Given the description of an element on the screen output the (x, y) to click on. 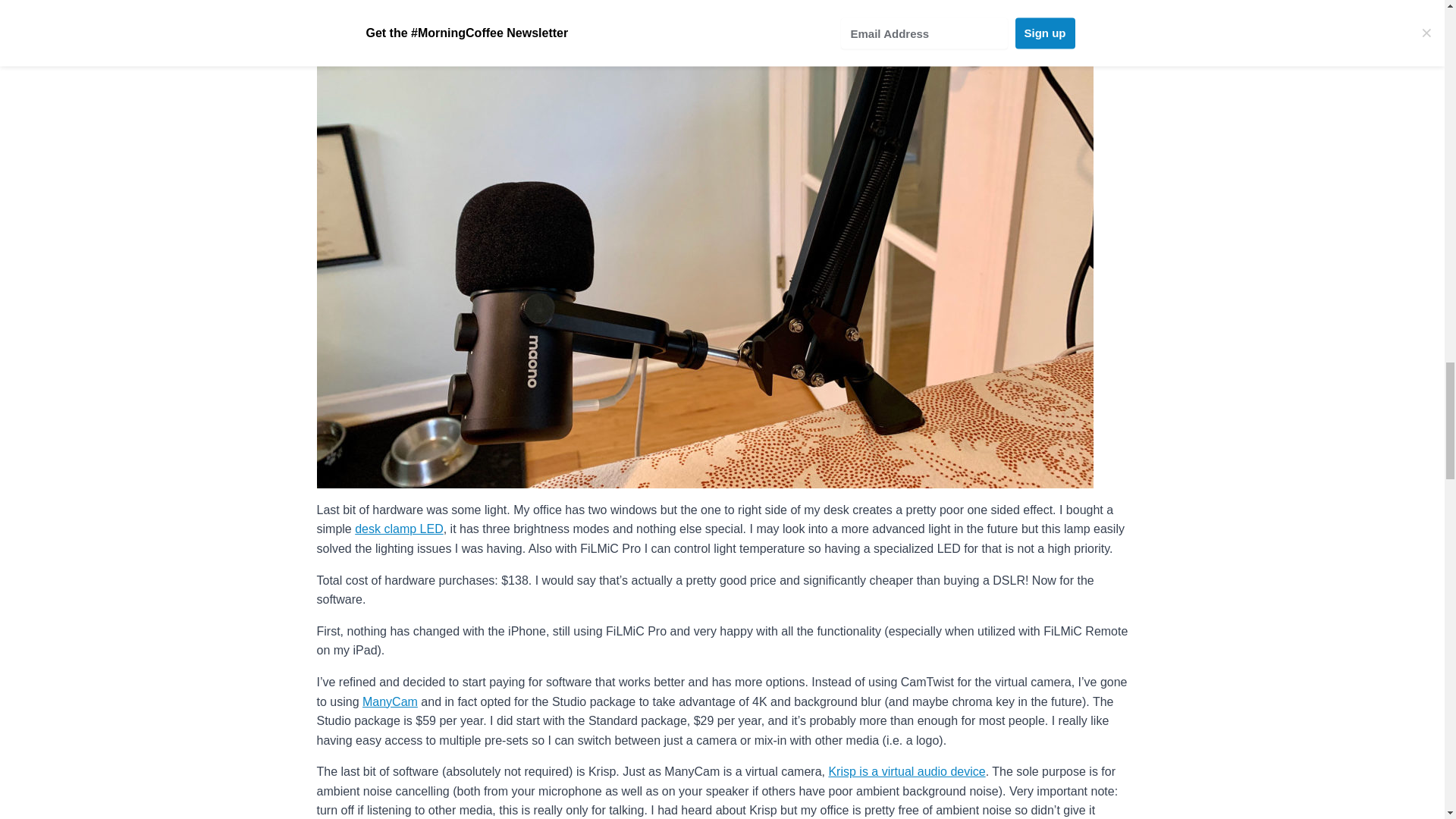
ManyCam (389, 700)
Krisp is a virtual audio device (906, 771)
desk clamp LED (399, 528)
